Given the description of an element on the screen output the (x, y) to click on. 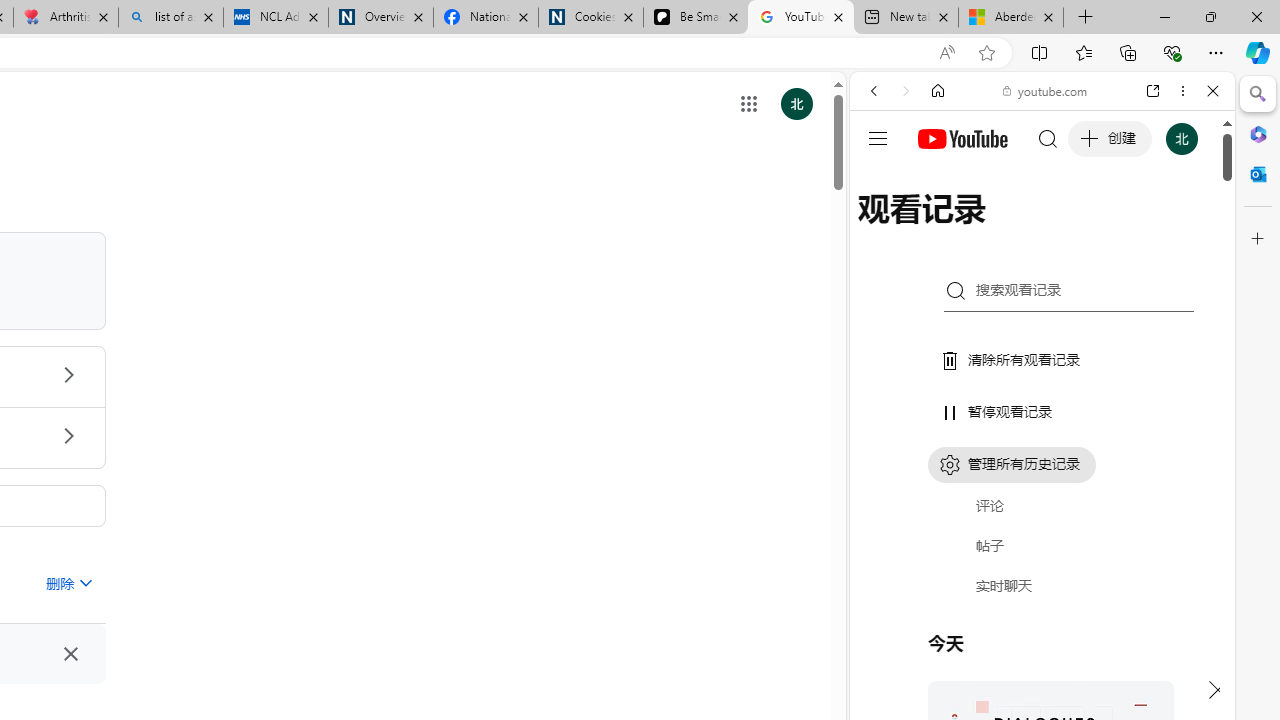
Class: gD71Gb NMm5M hhikbc (68, 435)
YouTube (1034, 296)
Music (1042, 543)
Show More Music (1164, 546)
Arthritis: Ask Health Professionals (65, 17)
